Given the description of an element on the screen output the (x, y) to click on. 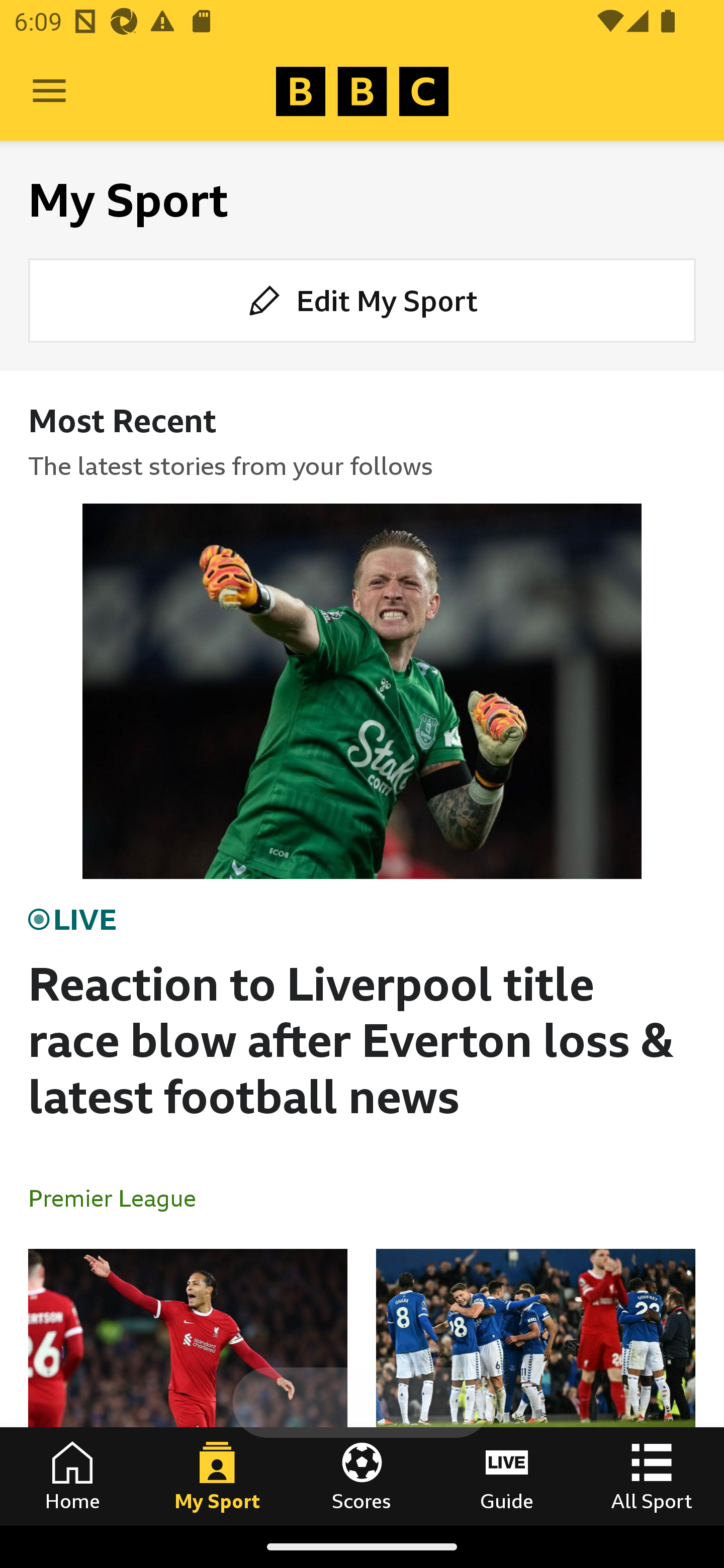
Open Menu (49, 91)
Edit My Sport (361, 300)
Premier League In the section Premier League (119, 1197)
Van Dijk questions desire of team-mates after loss (188, 1386)
Home (72, 1475)
Scores (361, 1475)
Guide (506, 1475)
All Sport (651, 1475)
